Given the description of an element on the screen output the (x, y) to click on. 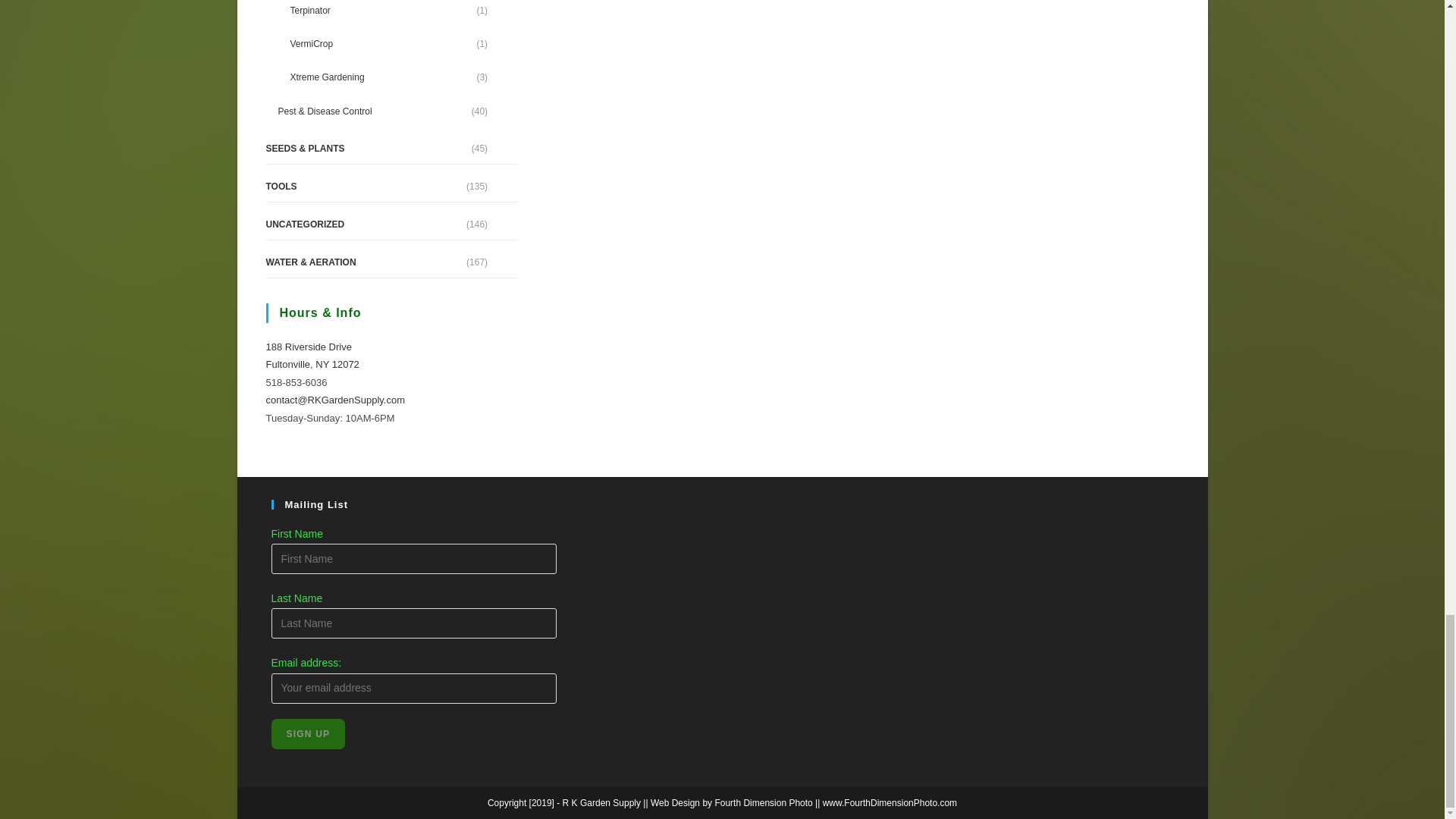
Sign up (308, 734)
